Given the description of an element on the screen output the (x, y) to click on. 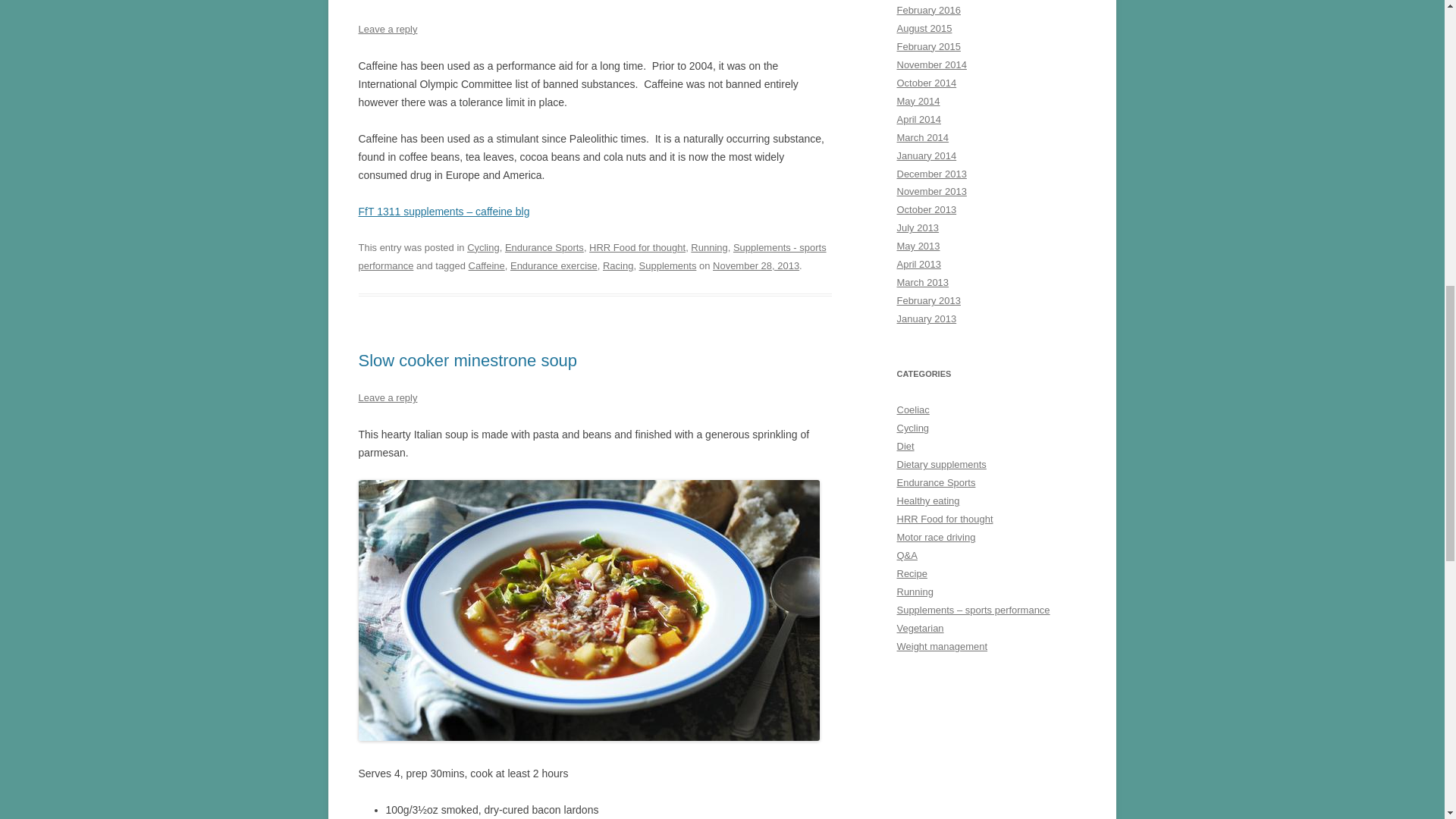
HRR Food for thought (637, 247)
November 28, 2013 (756, 265)
Caffeine (389, 0)
Endurance Sports (544, 247)
Supplements - sports performance (591, 256)
Supplements (668, 265)
Caffeine (486, 265)
Gluten free (912, 409)
Permalink to Caffeine (389, 0)
Elective and enforced dietary regimes (905, 446)
Distance cycling, racing and time trial (912, 428)
Slow cooker minestrone soup (467, 360)
Distance running, on and off road (914, 591)
Permalink to Slow cooker minestrone soup (467, 360)
Track circuit and rallying (935, 536)
